Given the description of an element on the screen output the (x, y) to click on. 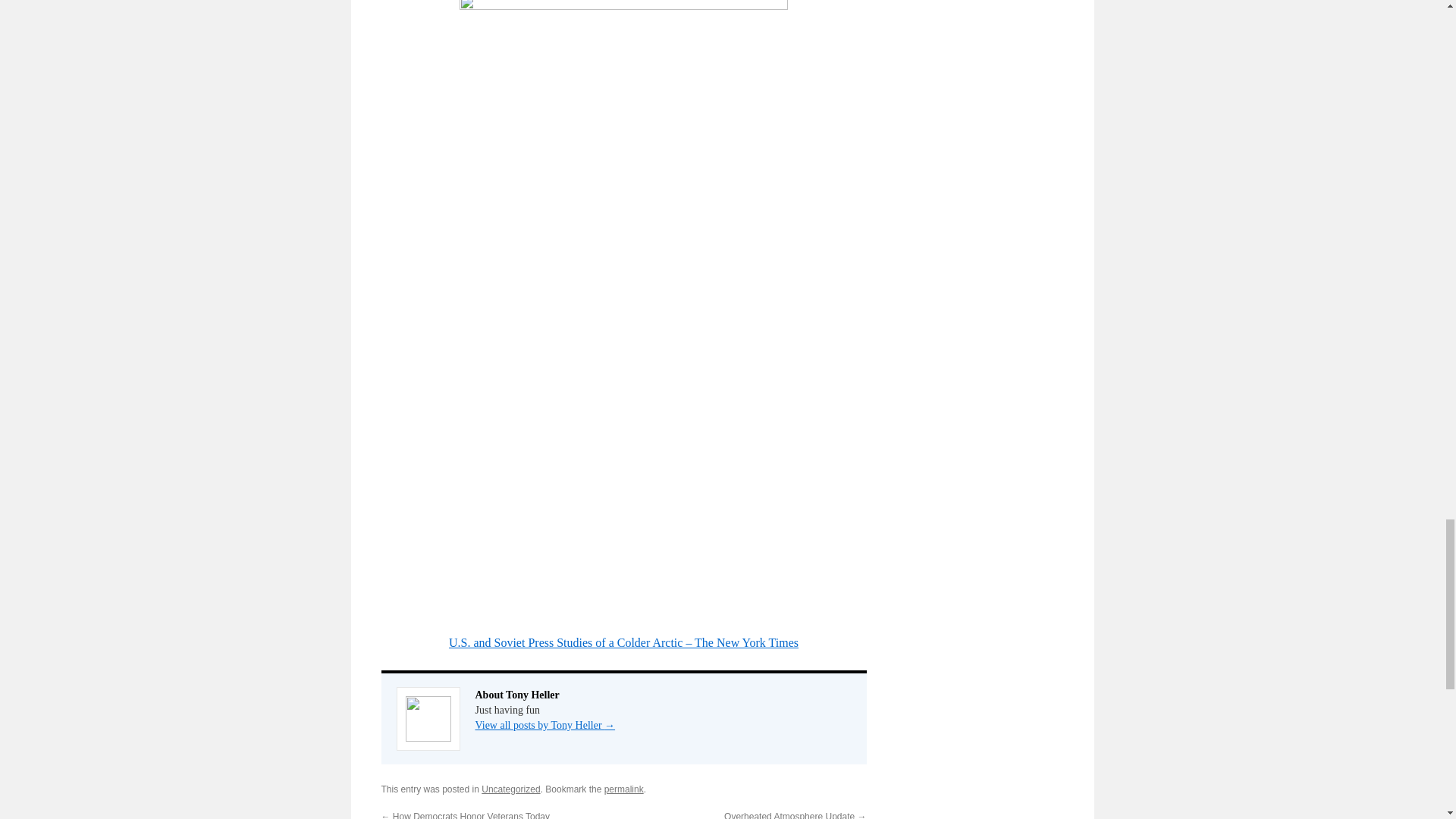
Permalink to 1970 Global Cooling Fires In California (623, 788)
